Given the description of an element on the screen output the (x, y) to click on. 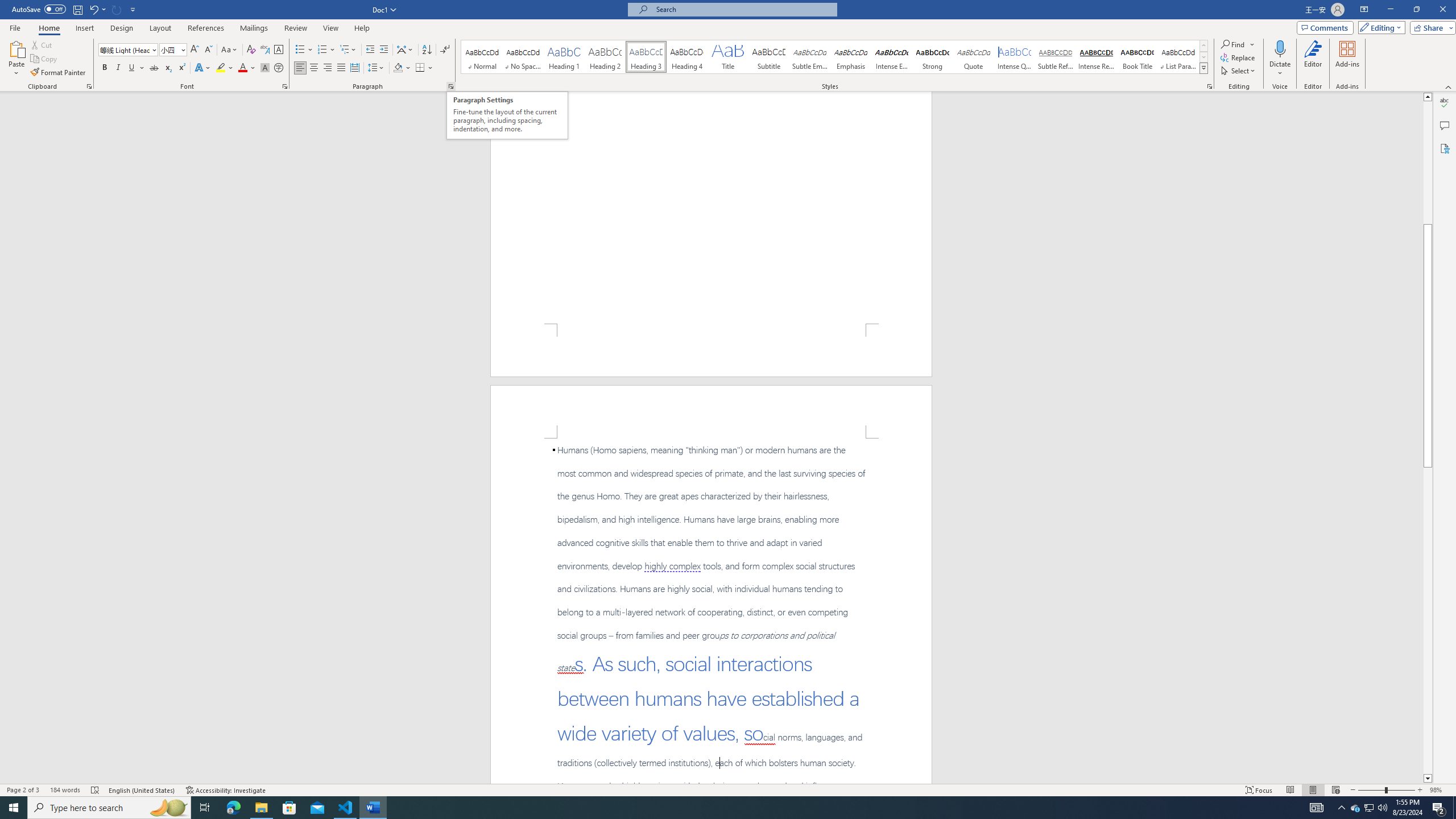
Line up (1427, 96)
Accessibility (1444, 147)
Align Left (300, 67)
Intense Reference (1095, 56)
Italic (118, 67)
Distributed (354, 67)
